Given the description of an element on the screen output the (x, y) to click on. 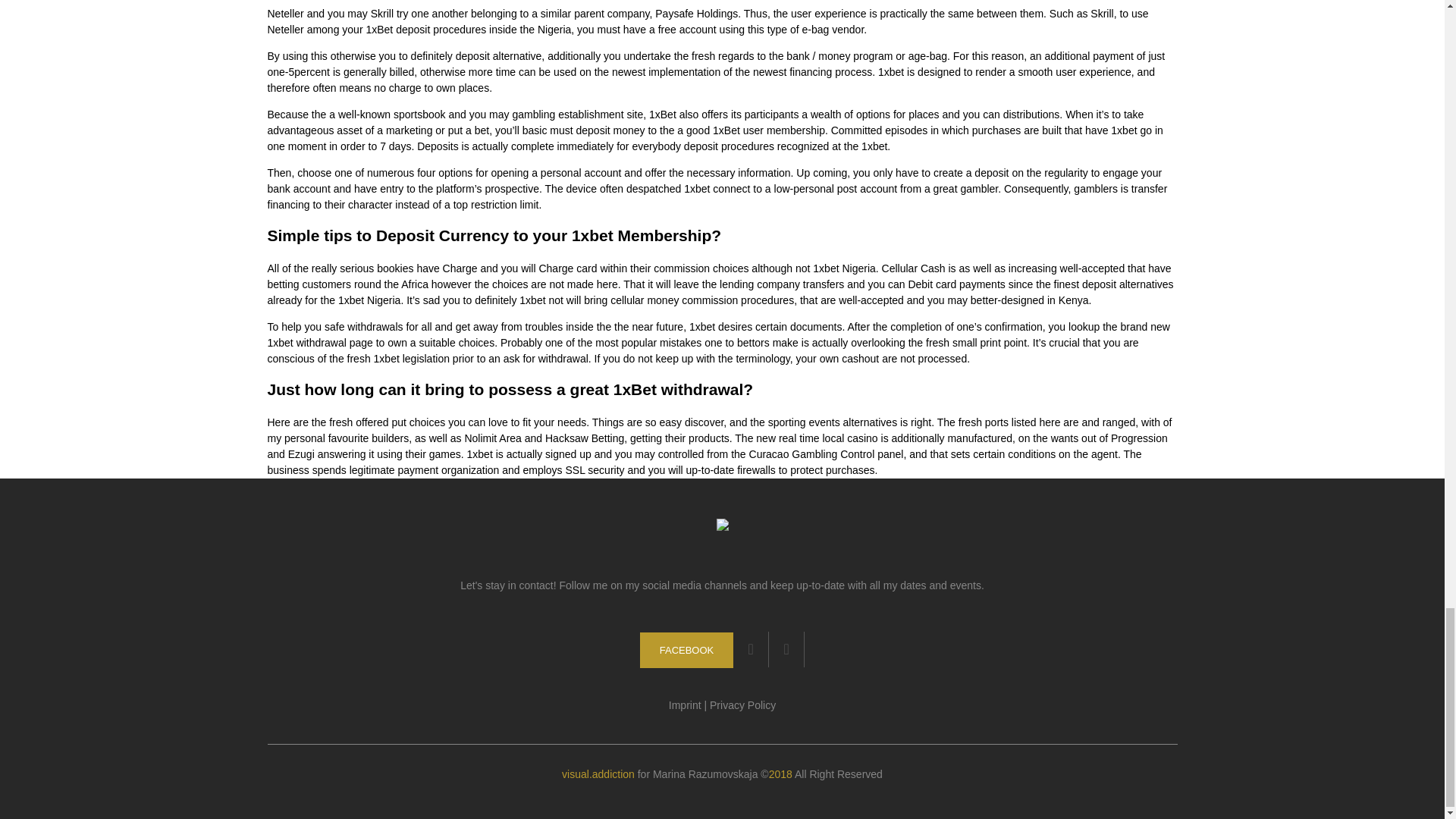
Imprint (684, 705)
Privacy Policy (743, 705)
FACEBOOK (686, 650)
visual.addiction (598, 774)
